Given the description of an element on the screen output the (x, y) to click on. 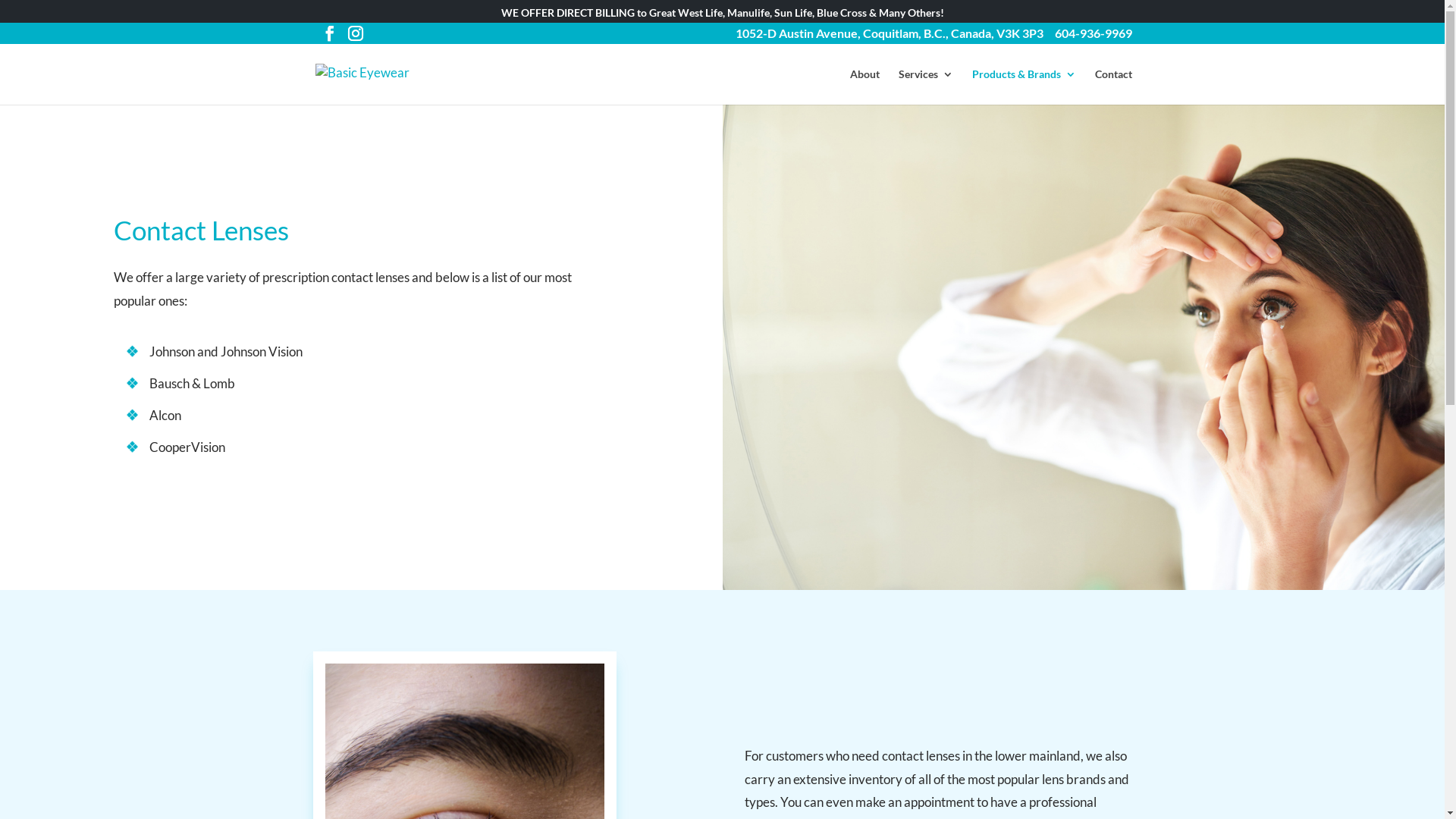
About Element type: text (863, 86)
Contact Element type: text (1113, 86)
BLANK Element type: hover (835, 216)
1052-D Austin Avenue, Coquitlam, B.C., Canada, V3K 3P3 Element type: text (889, 35)
Services Element type: text (924, 86)
Products & Brands Element type: text (1024, 86)
604-936-9969 Element type: text (1092, 35)
